Given the description of an element on the screen output the (x, y) to click on. 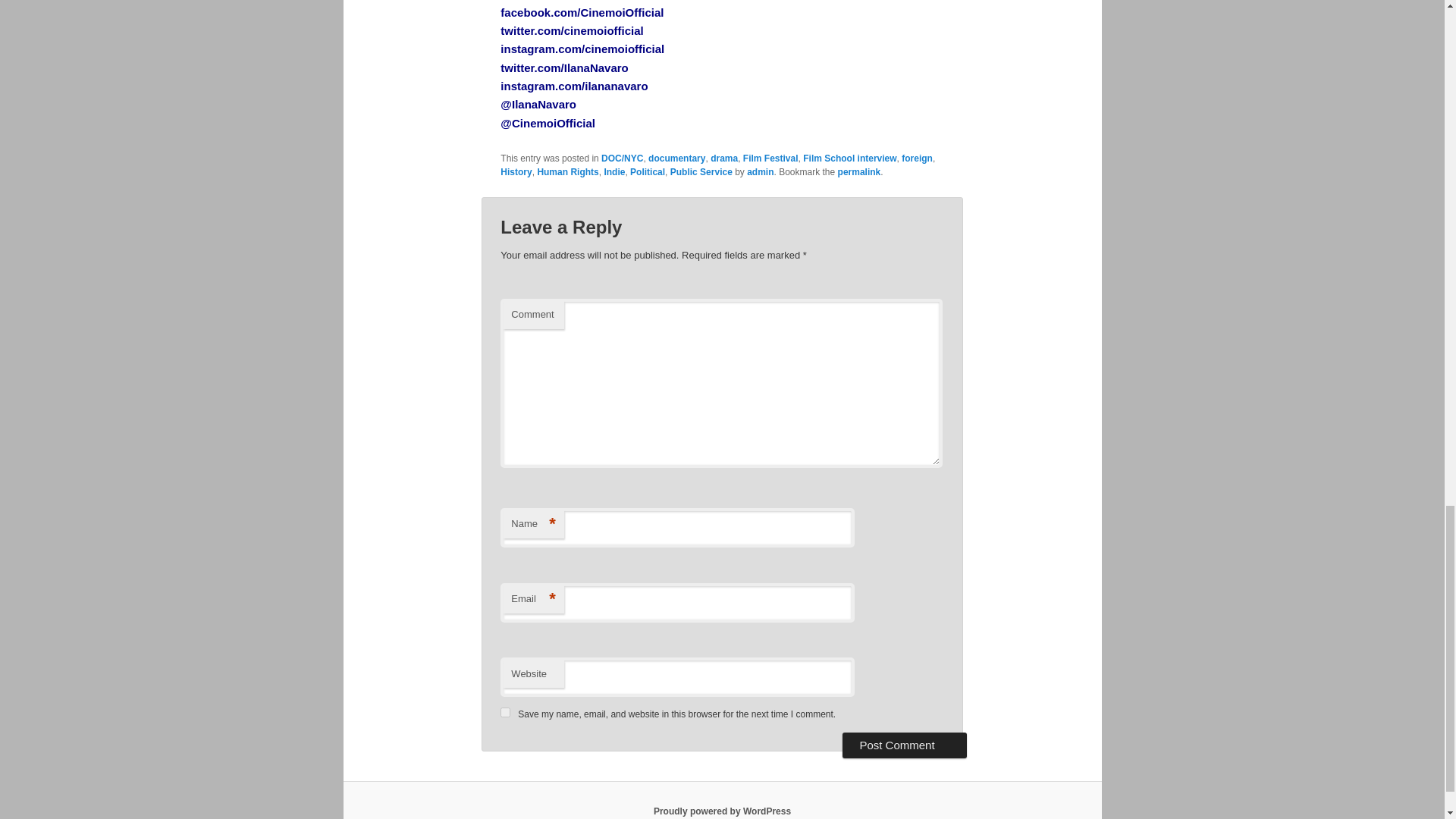
foreign (917, 157)
Political (647, 171)
Indie (614, 171)
Post Comment (904, 745)
documentary (675, 157)
History (515, 171)
Post Comment (904, 745)
yes (505, 712)
Public Service (700, 171)
